Given the description of an element on the screen output the (x, y) to click on. 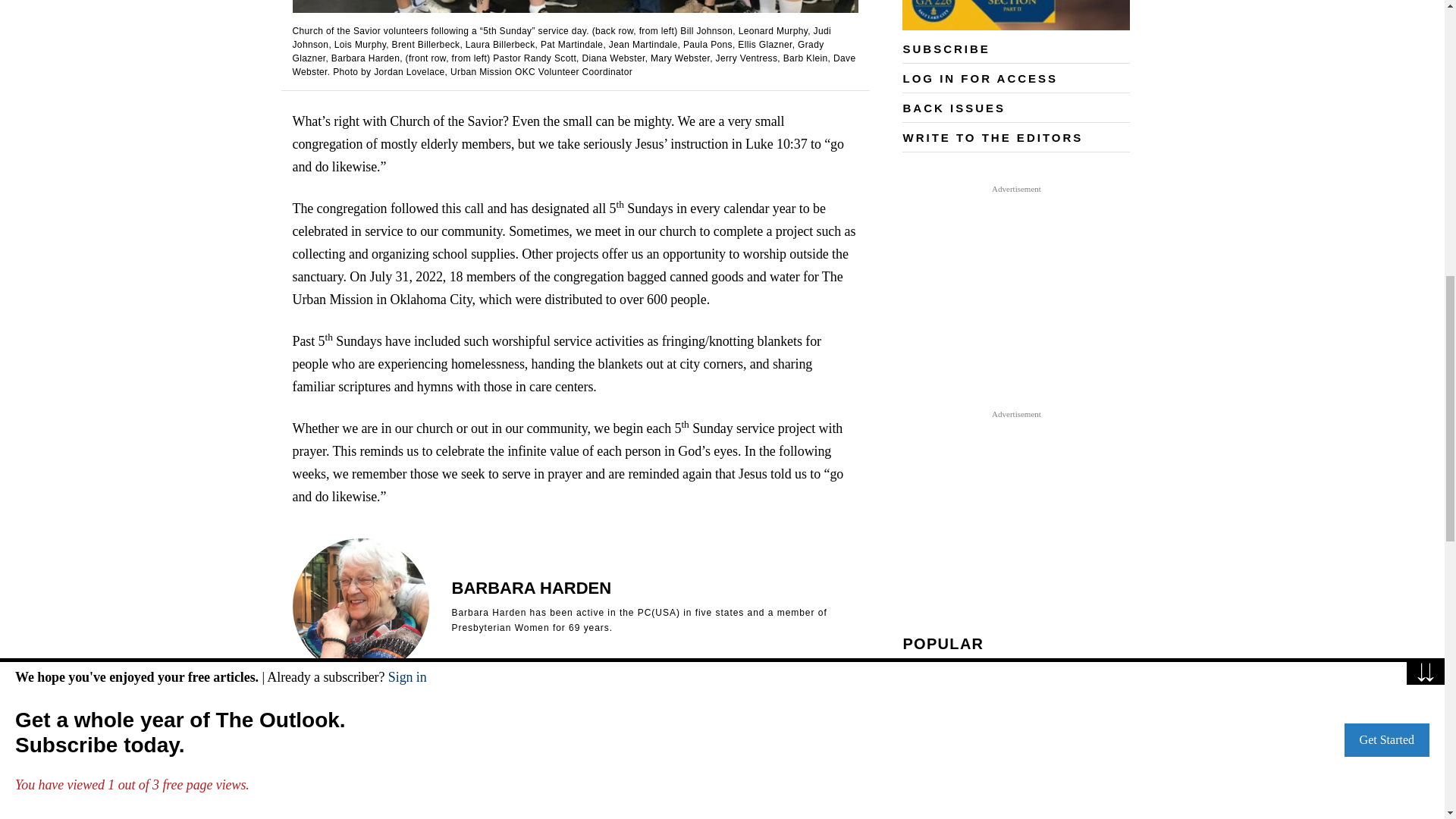
Posts by Barbara Harden (531, 587)
